Given the description of an element on the screen output the (x, y) to click on. 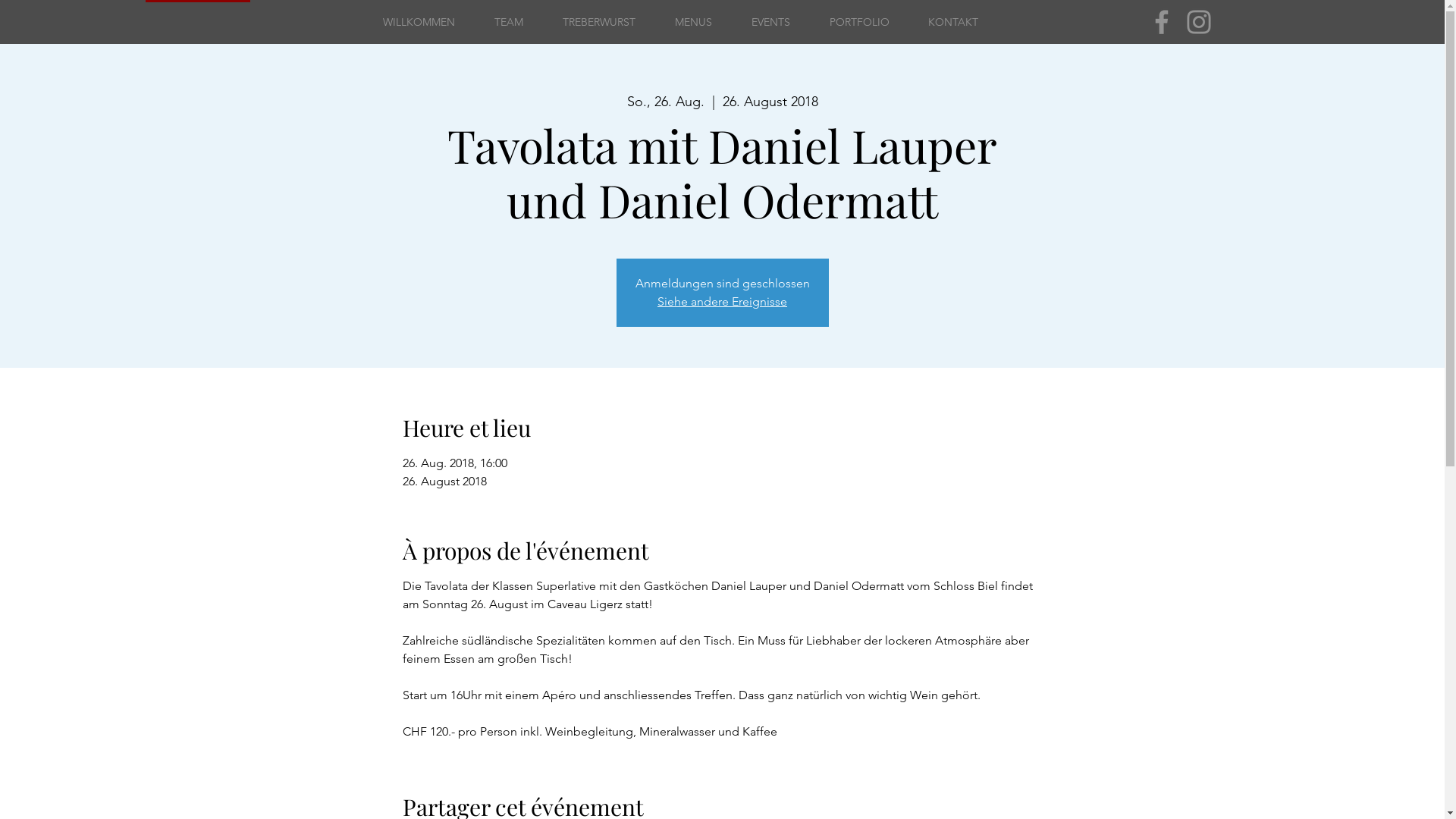
EVENTS Element type: text (770, 21)
Siehe andere Ereignisse Element type: text (722, 301)
TEAM Element type: text (508, 21)
KONTAKT Element type: text (952, 21)
WILLKOMMEN Element type: text (417, 21)
TREBERWURST Element type: text (598, 21)
PORTFOLIO Element type: text (859, 21)
MENUS Element type: text (693, 21)
